Given the description of an element on the screen output the (x, y) to click on. 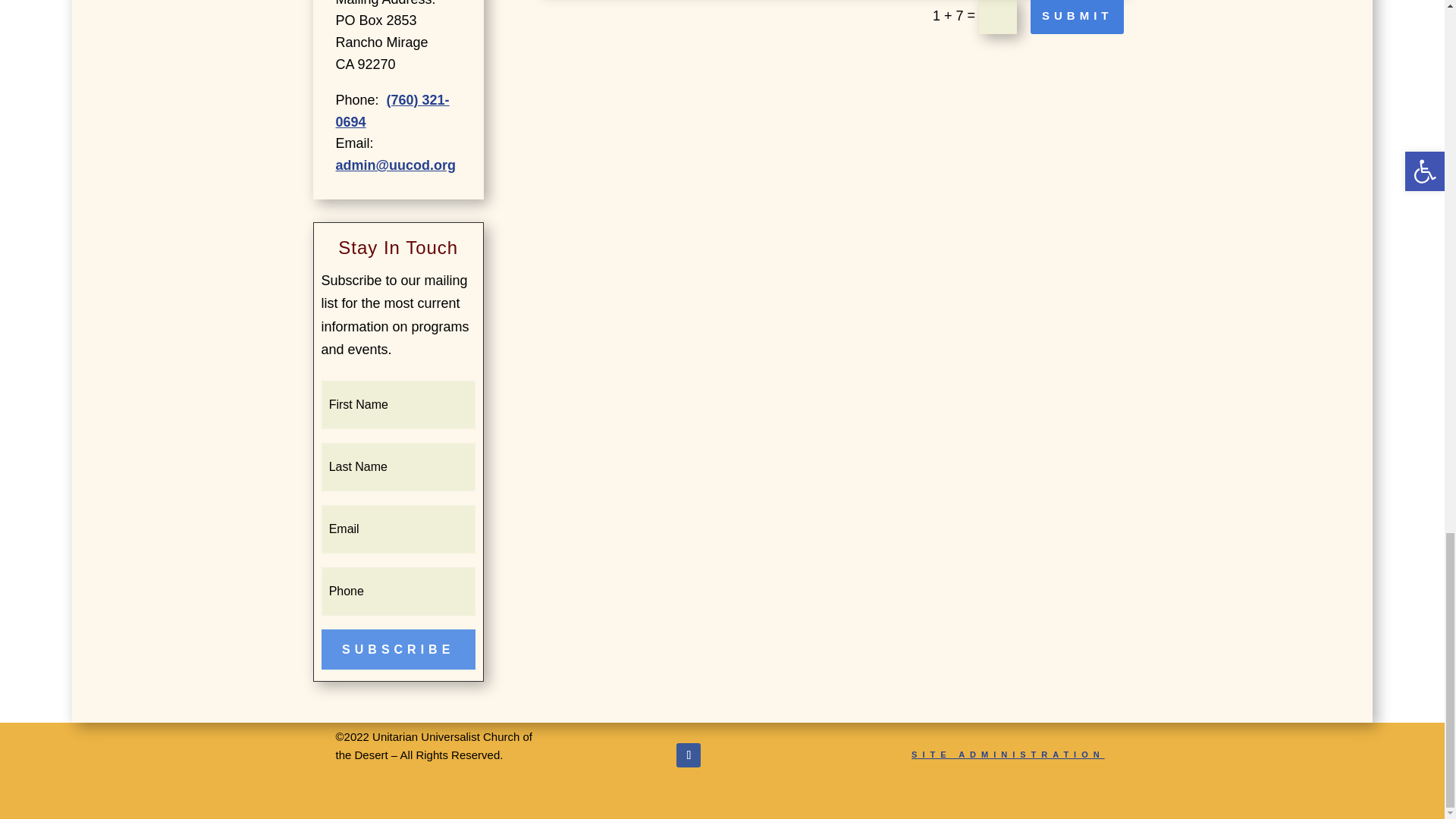
Follow on Facebook (688, 754)
Only numbers allowed.Maximum length: 11 characters. (398, 591)
